Given the description of an element on the screen output the (x, y) to click on. 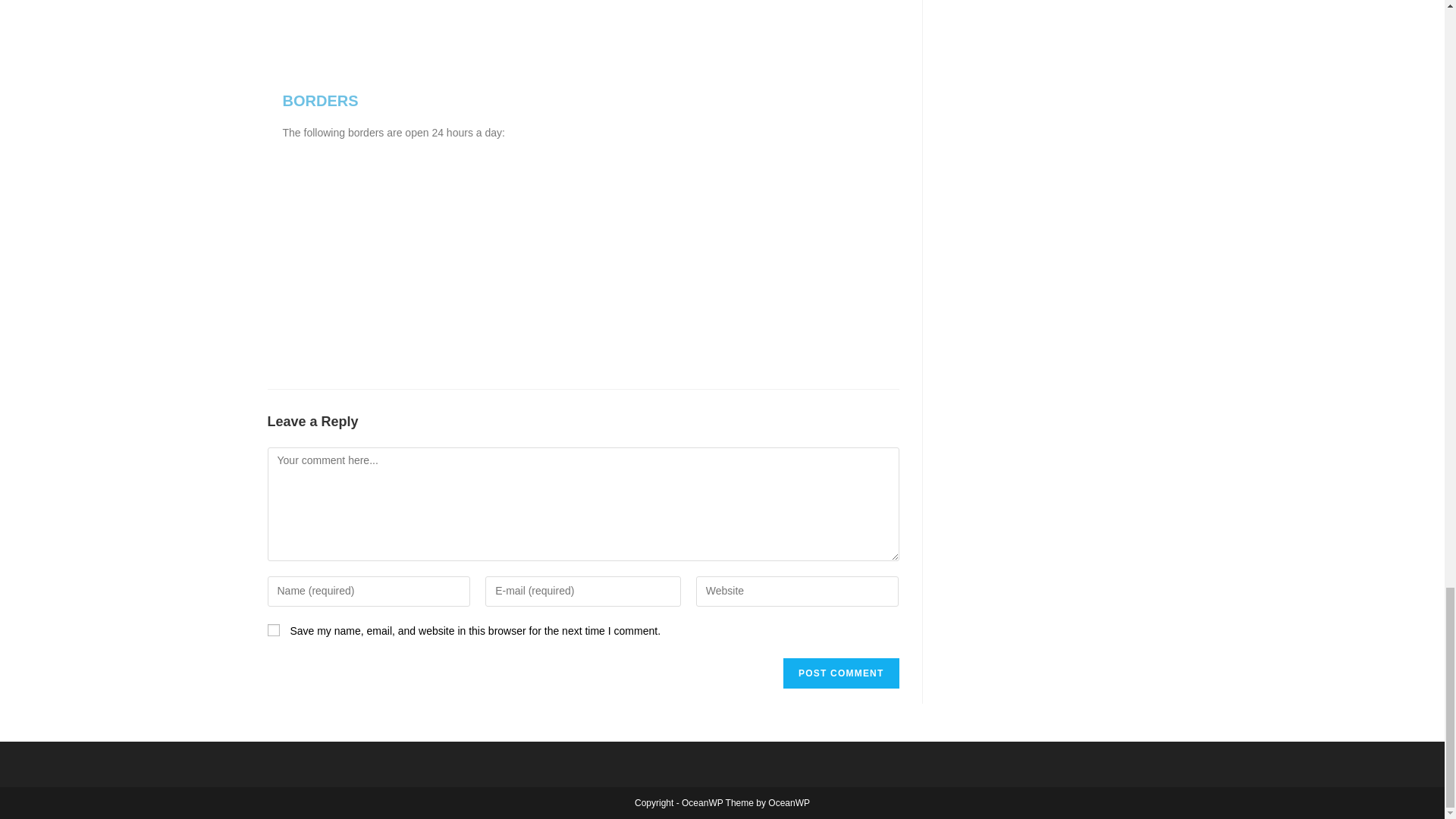
Post Comment (840, 673)
yes (272, 630)
Port of Durres (737, 31)
Post Comment (840, 673)
Tirana bus station (737, 237)
